Given the description of an element on the screen output the (x, y) to click on. 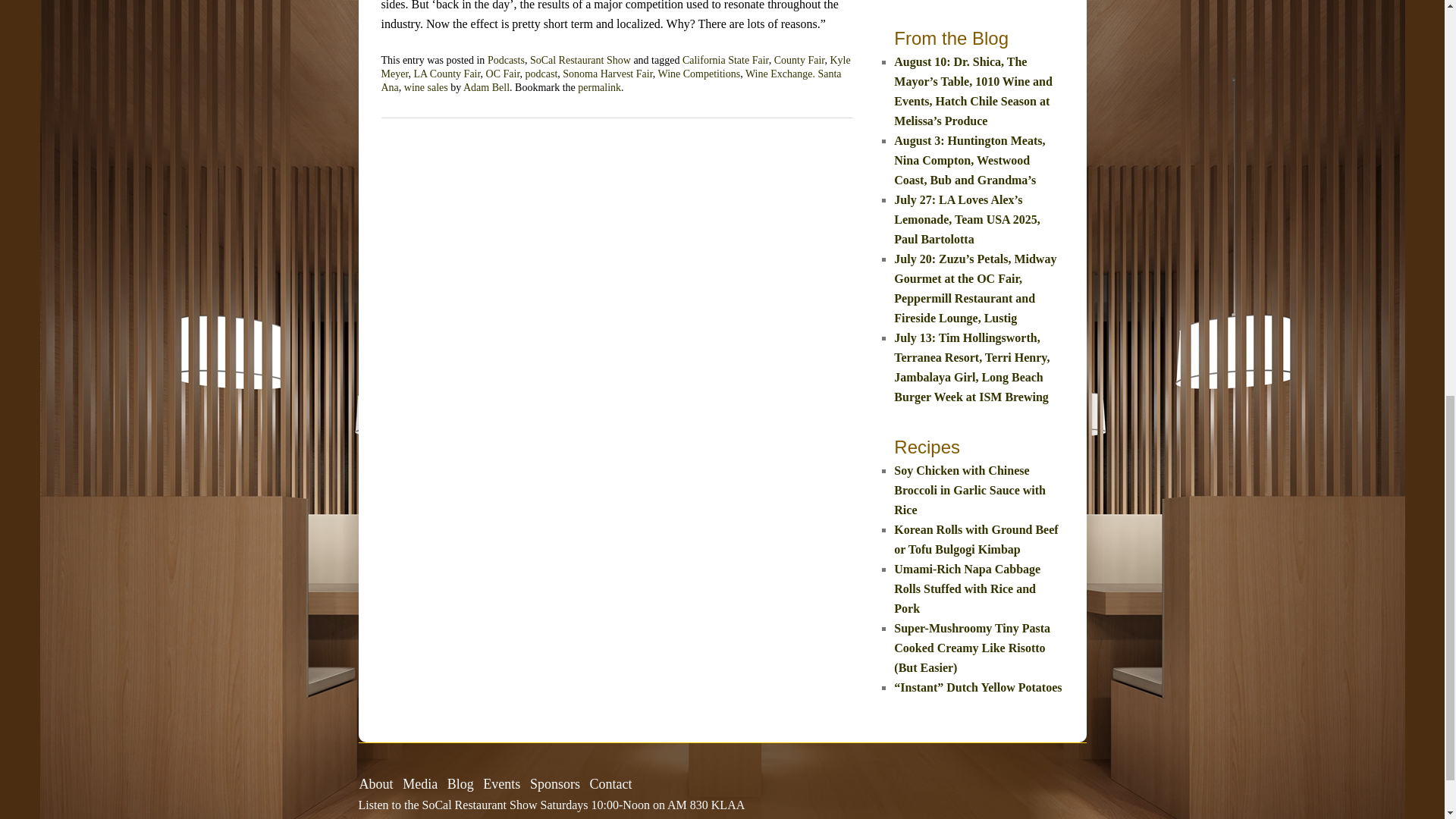
podcast (541, 73)
OC Fair (502, 73)
SoCal Restaurant Show (579, 60)
California State Fair (725, 60)
Kyle Meyer (615, 66)
LA County Fair (446, 73)
Podcasts (505, 60)
Sonoma Harvest Fair (607, 73)
County Fair (799, 60)
